Given the description of an element on the screen output the (x, y) to click on. 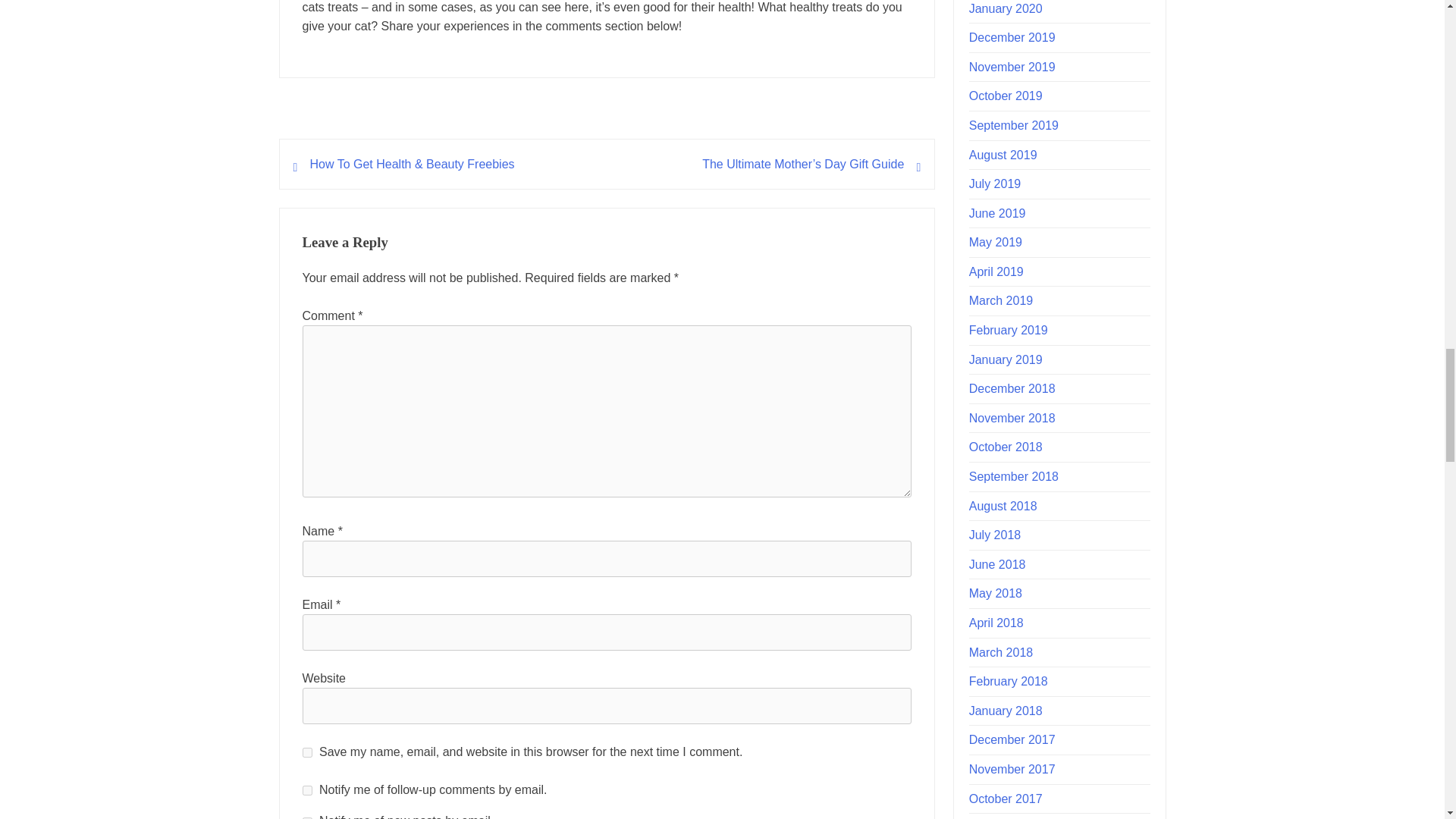
yes (306, 752)
subscribe (306, 790)
